Given the description of an element on the screen output the (x, y) to click on. 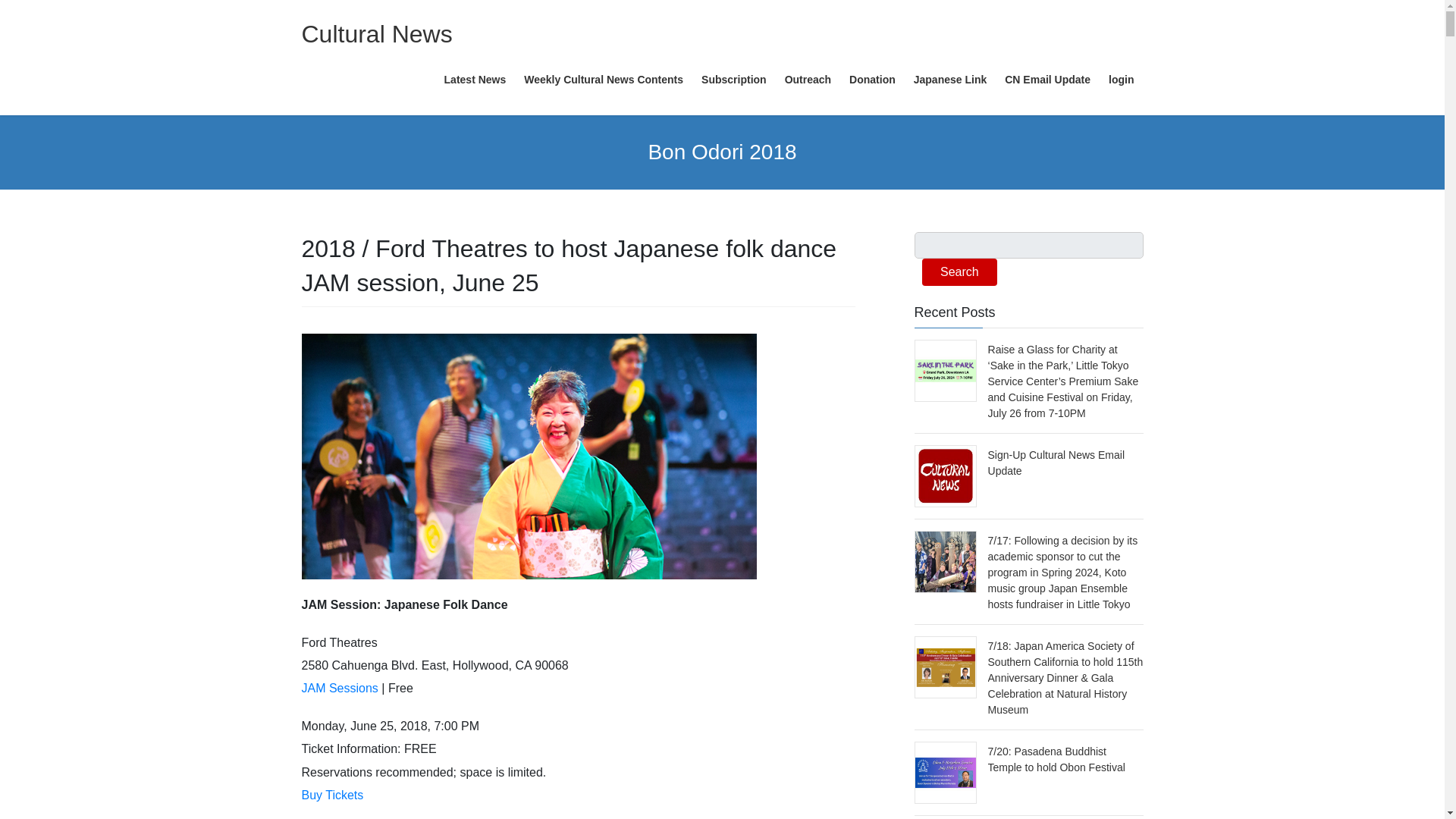
Subscription (734, 80)
Latest News (475, 80)
Japanese Link (949, 80)
CN Email Update (1047, 80)
Donation (872, 80)
Weekly Cultural News Contents (604, 80)
Cultural News (376, 33)
Buy Tickets (332, 794)
login (1120, 80)
JAM Sessions (339, 687)
Outreach (808, 80)
